Given the description of an element on the screen output the (x, y) to click on. 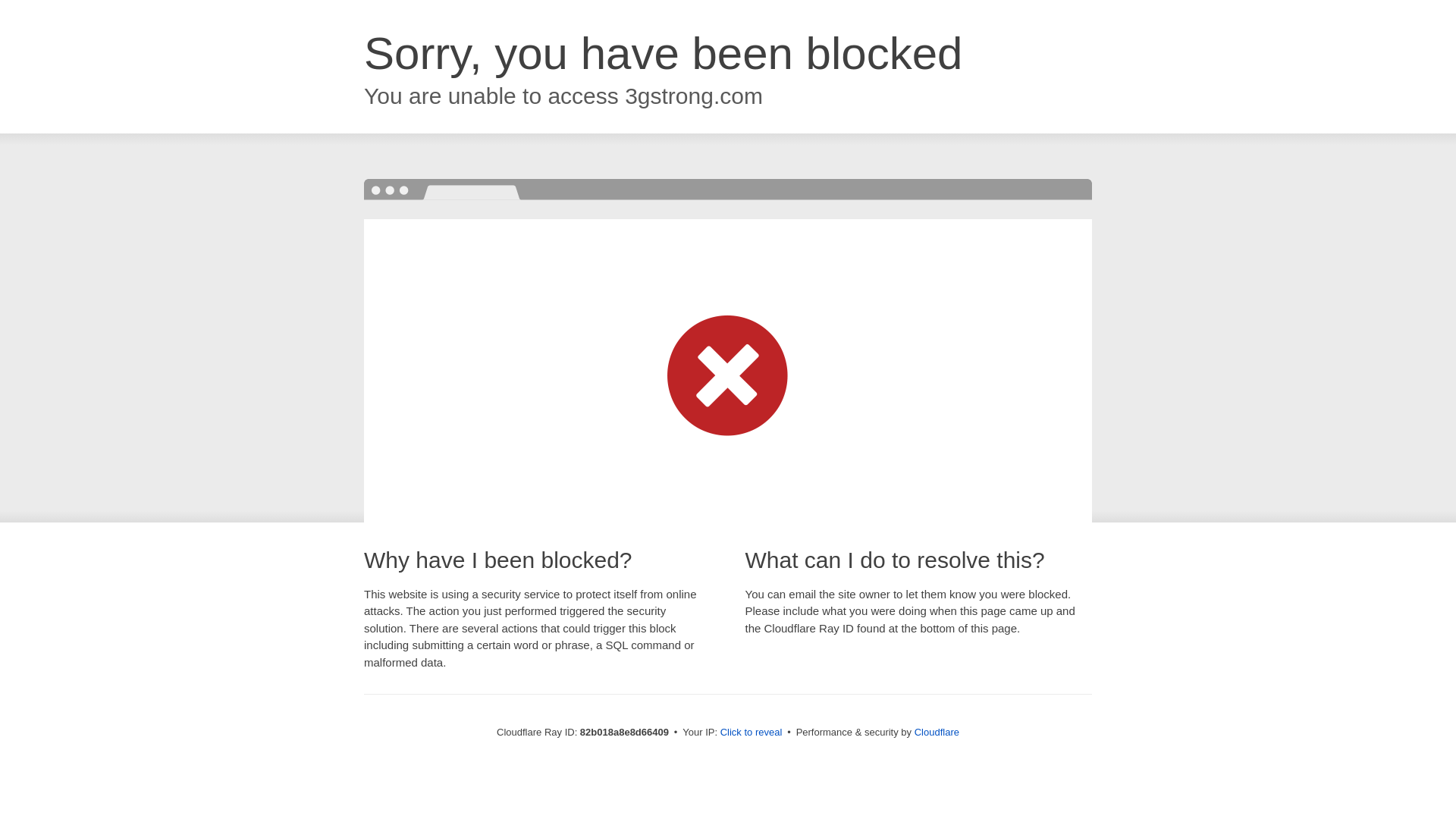
Cloudflare Element type: text (936, 731)
Click to reveal Element type: text (751, 732)
